Given the description of an element on the screen output the (x, y) to click on. 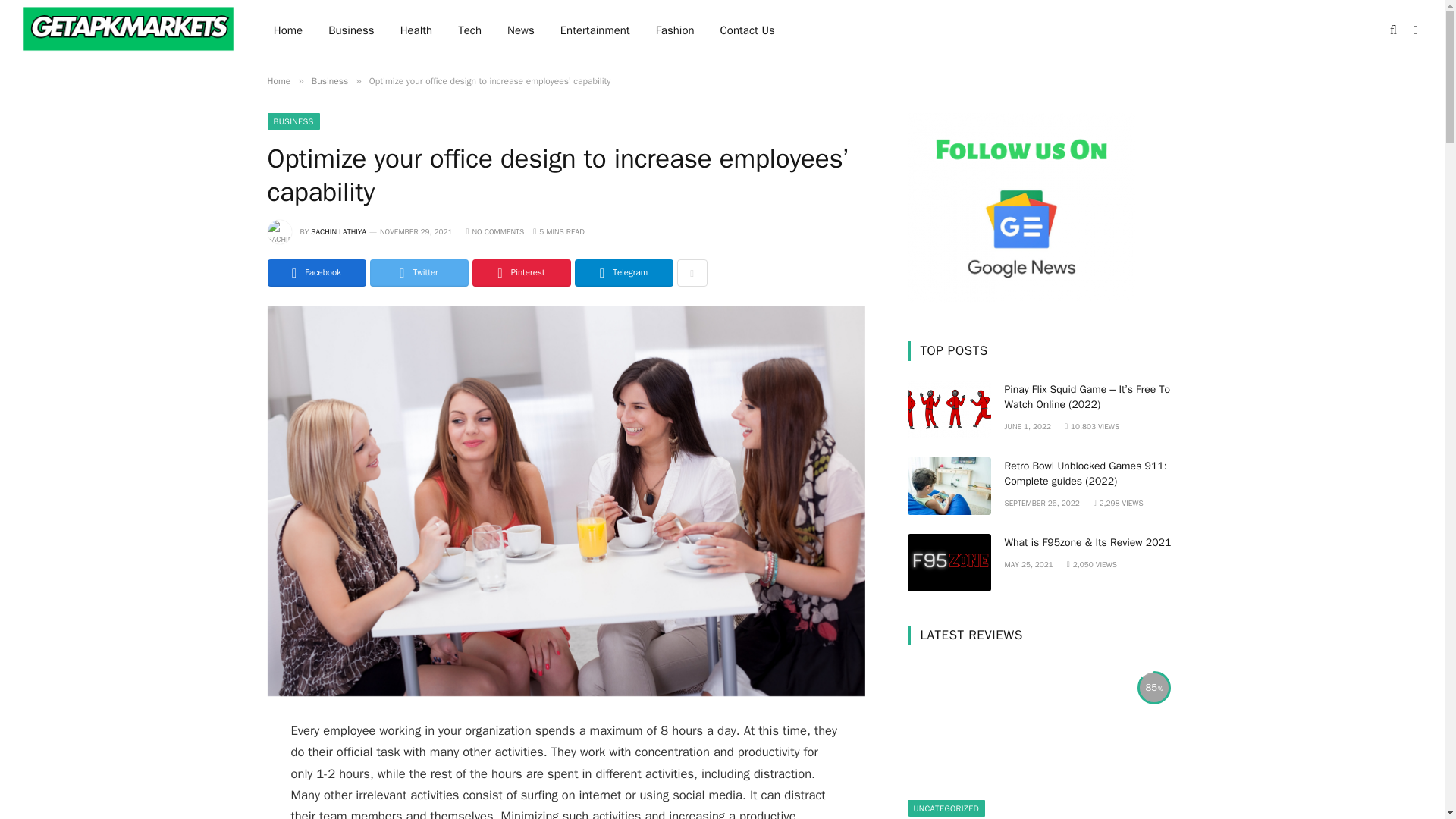
Share on Facebook (315, 272)
Business (351, 30)
Contact Us (747, 30)
Switch to Dark Design - easier on eyes. (1414, 30)
Getapkmarkets (128, 31)
Health (416, 30)
Home (287, 30)
Fashion (675, 30)
Posts by sachin lathiya (338, 231)
Home (277, 80)
Business (329, 80)
BUSINESS (292, 121)
Entertainment (595, 30)
